Given the description of an element on the screen output the (x, y) to click on. 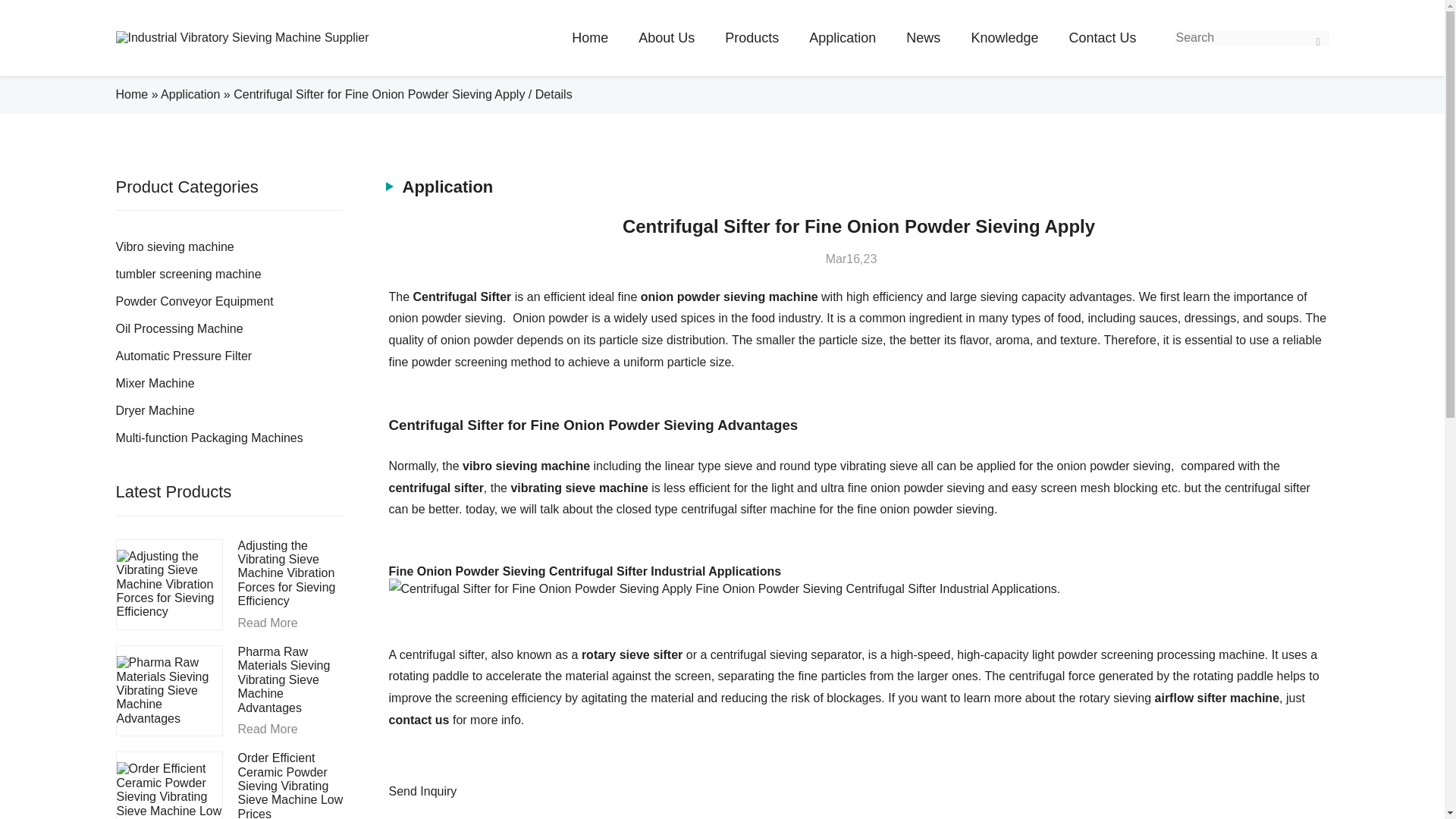
Mixer Machine (228, 383)
tumbler screening machine (228, 274)
Powder Conveyor Equipment (228, 301)
Dryer Machine (228, 411)
Oil Processing Machine (228, 329)
Multi-function Packaging Machines (228, 438)
Read More (290, 622)
Knowledge (1004, 38)
Contact Us (1101, 38)
Vibro sieving machine (228, 247)
